Given the description of an element on the screen output the (x, y) to click on. 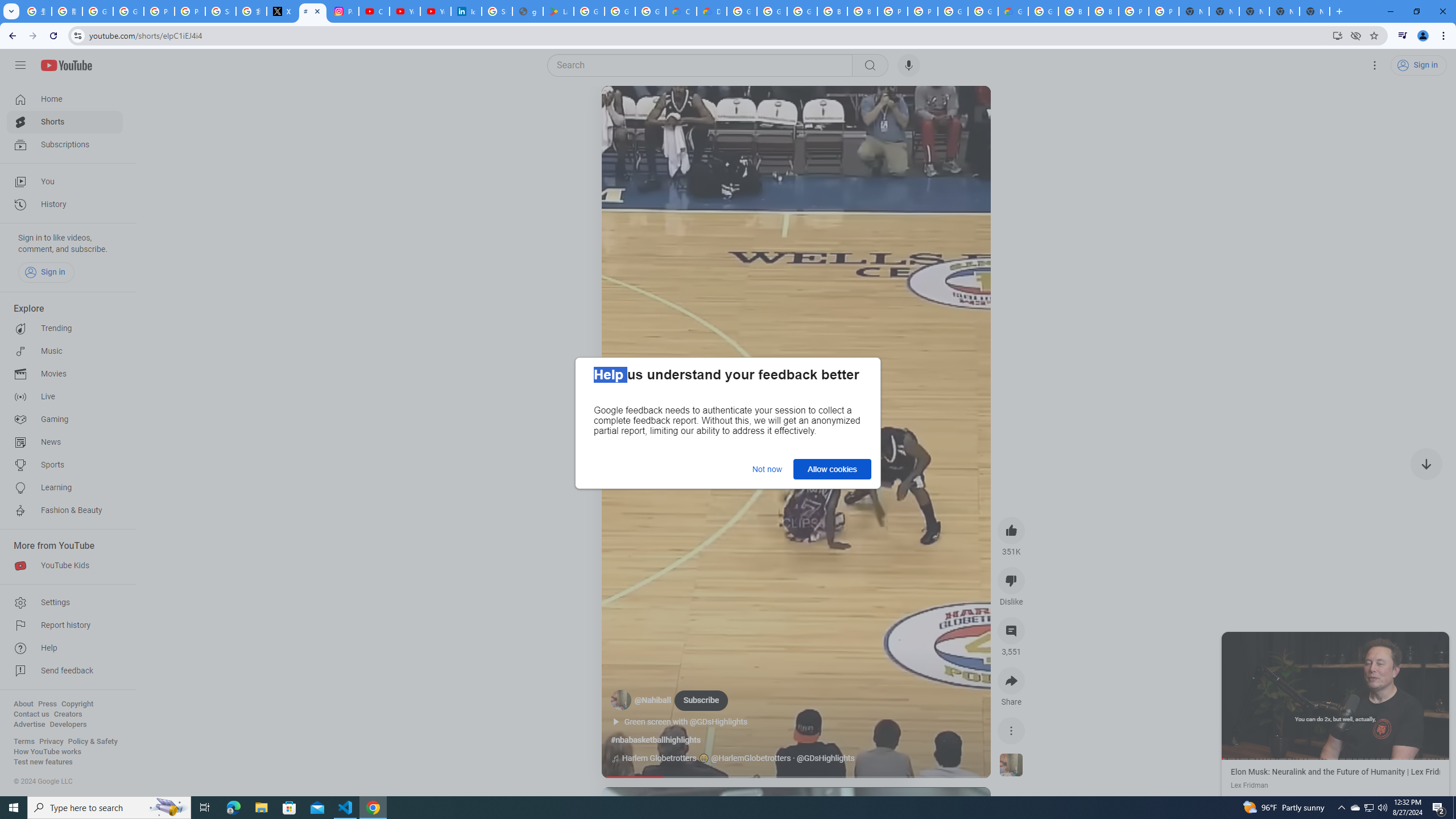
Sign in - Google Accounts (220, 11)
Home (64, 99)
Learning (64, 487)
Developers (68, 724)
YouTube Culture & Trends - YouTube Top 10, 2021 (434, 11)
Google Workspace - Specific Terms (619, 11)
Sign in - Google Accounts (496, 11)
